Given the description of an element on the screen output the (x, y) to click on. 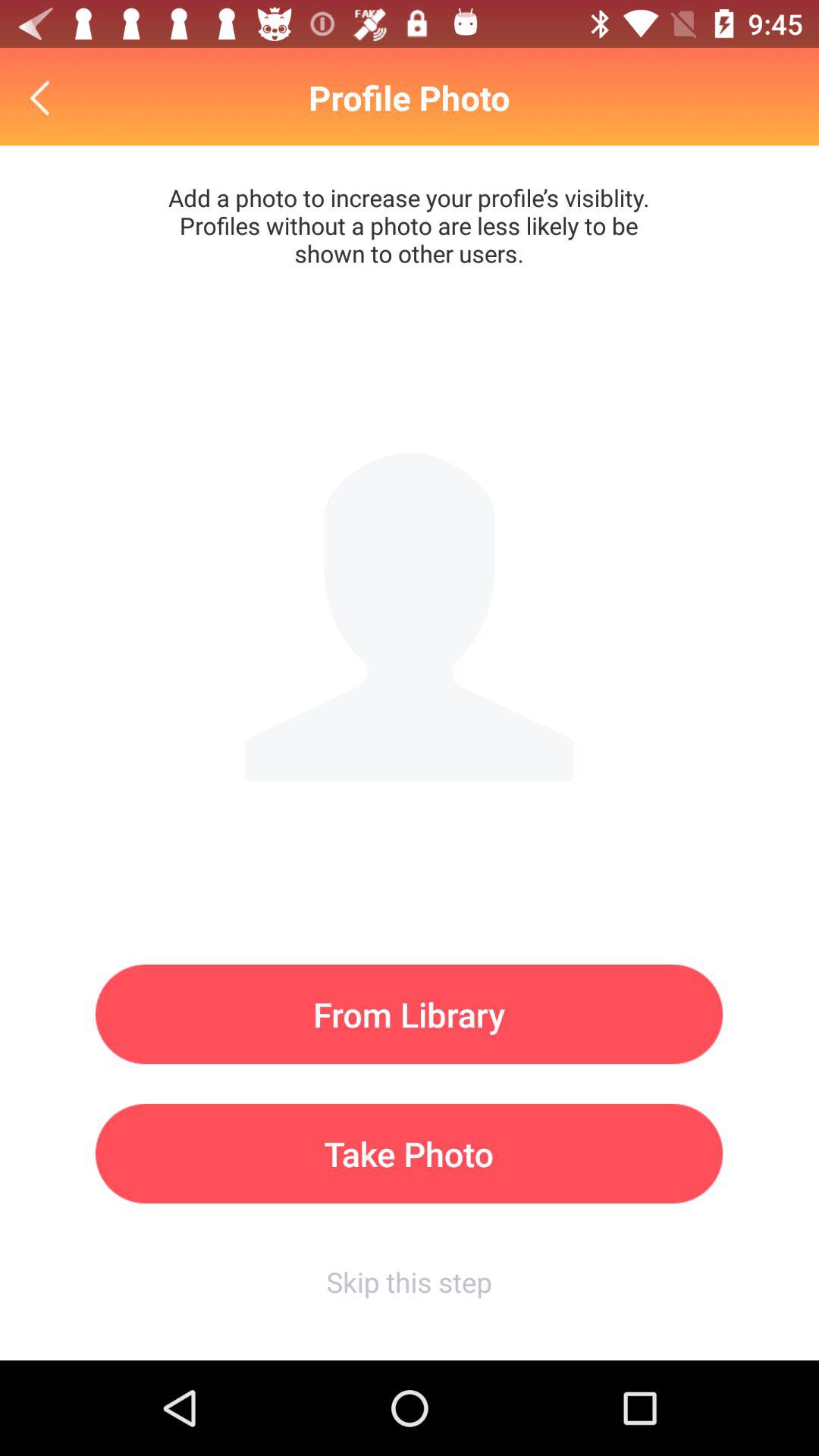
turn off take photo (408, 1153)
